Given the description of an element on the screen output the (x, y) to click on. 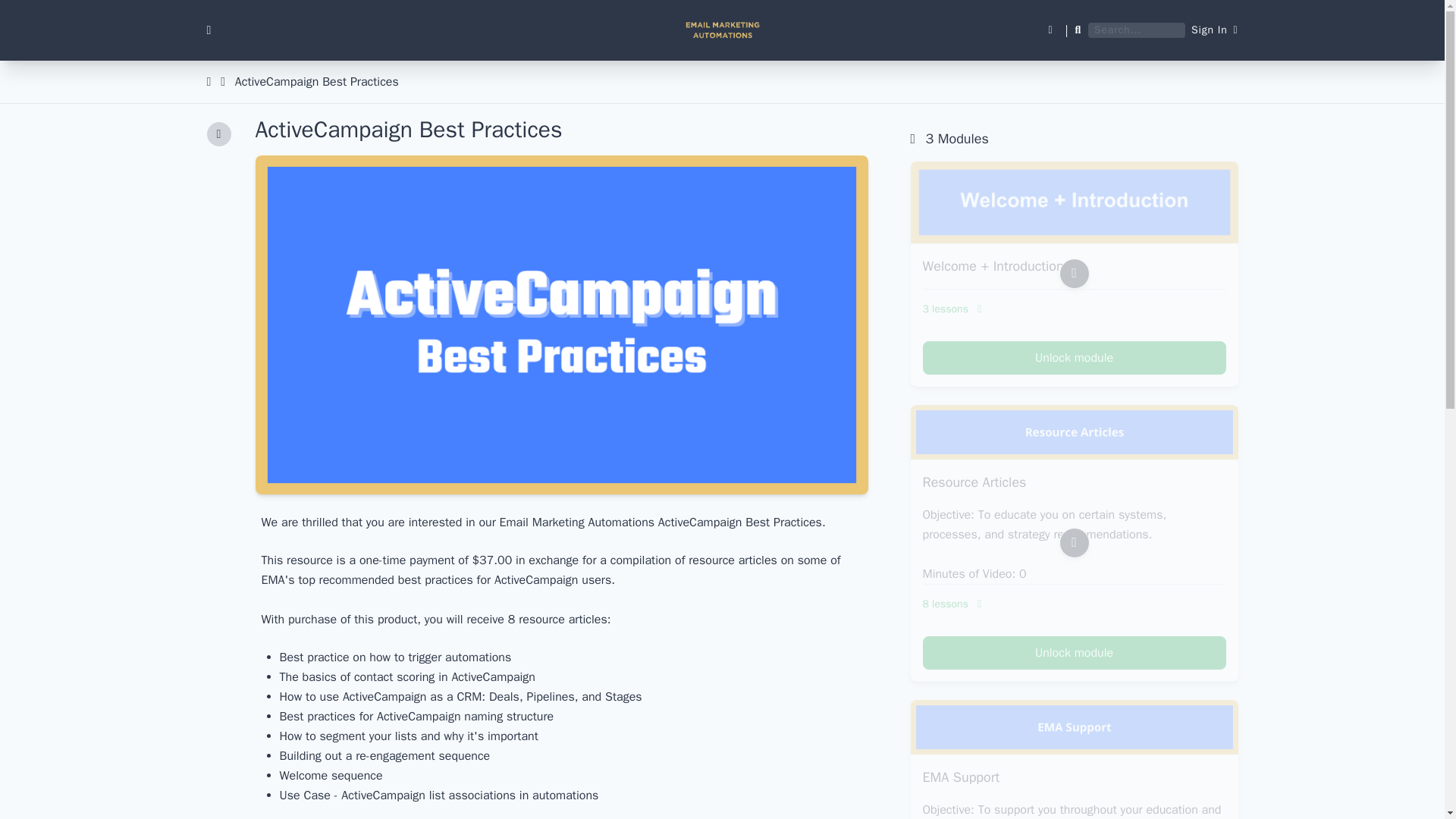
ActiveCampaign Best Practices (316, 81)
3 lessons (1074, 309)
search (20, 7)
Unlock module (1074, 357)
Sign In (1214, 29)
8 lessons (1074, 604)
Unlock module (1074, 652)
